Given the description of an element on the screen output the (x, y) to click on. 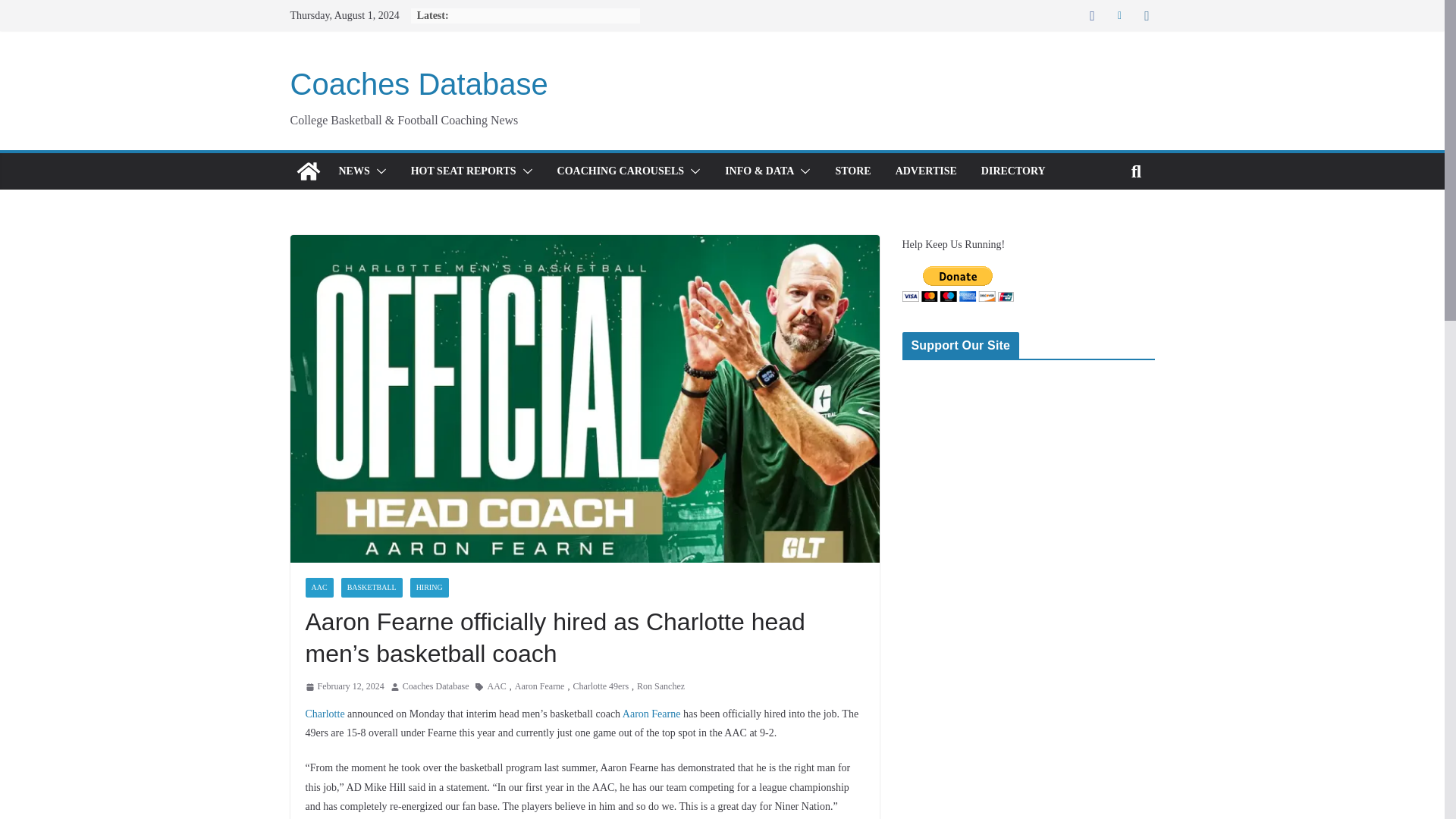
AAC (318, 587)
7:49 pm (344, 686)
Charlotte 49ers (600, 686)
HIRING (429, 587)
February 12, 2024 (344, 686)
NEWS (353, 170)
Coaches Database (435, 686)
BASKETBALL (371, 587)
Aaron Fearne (539, 686)
STORE (852, 170)
